Given the description of an element on the screen output the (x, y) to click on. 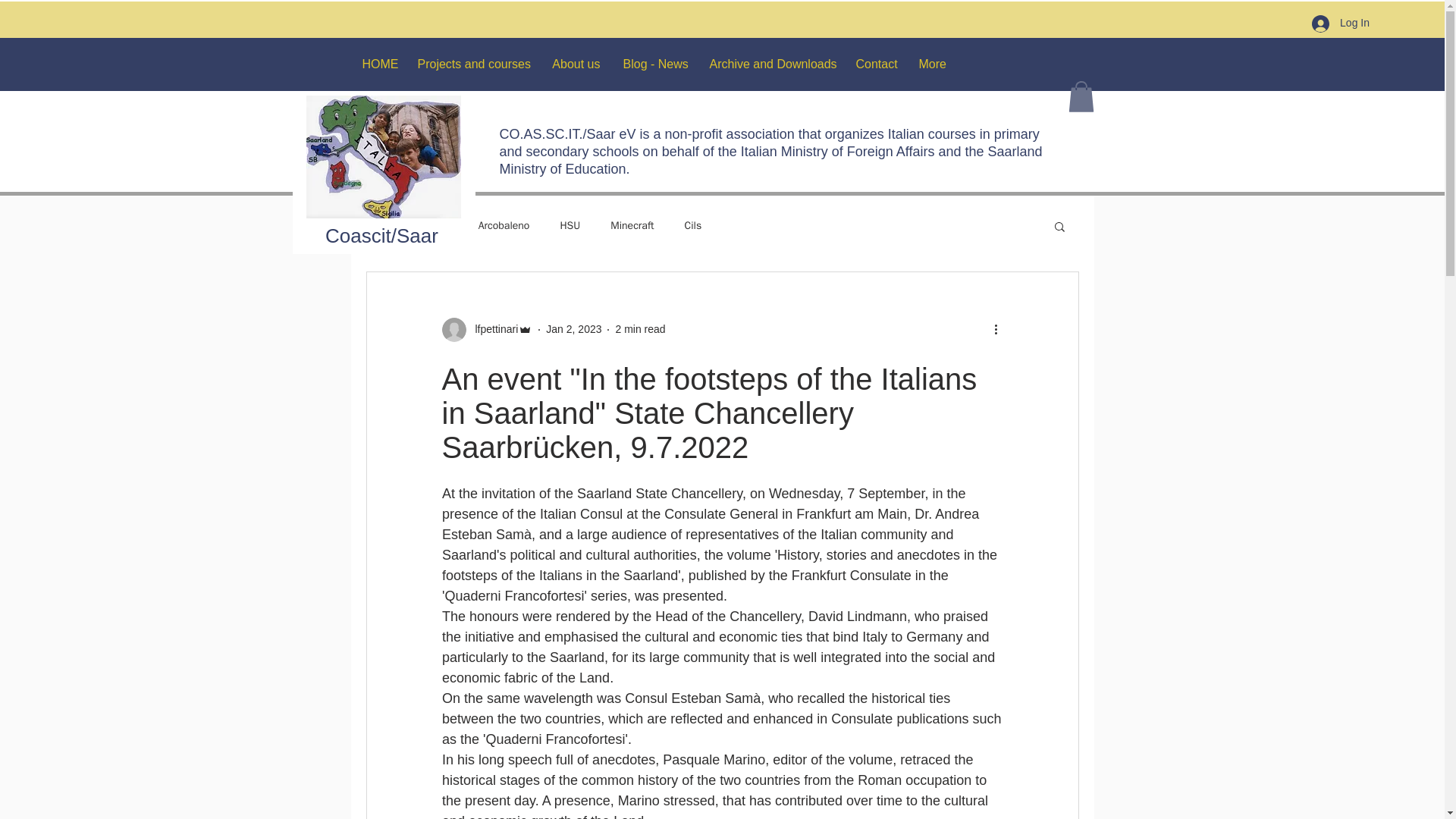
Cils (692, 225)
About us (575, 64)
Contact (875, 64)
Archive and Downloads (770, 64)
Jan 2, 2023 (573, 328)
lfpettinari (491, 329)
Projects and courses (473, 64)
Minecraft (631, 225)
lfpettinari (486, 329)
Log In (1340, 23)
